Given the description of an element on the screen output the (x, y) to click on. 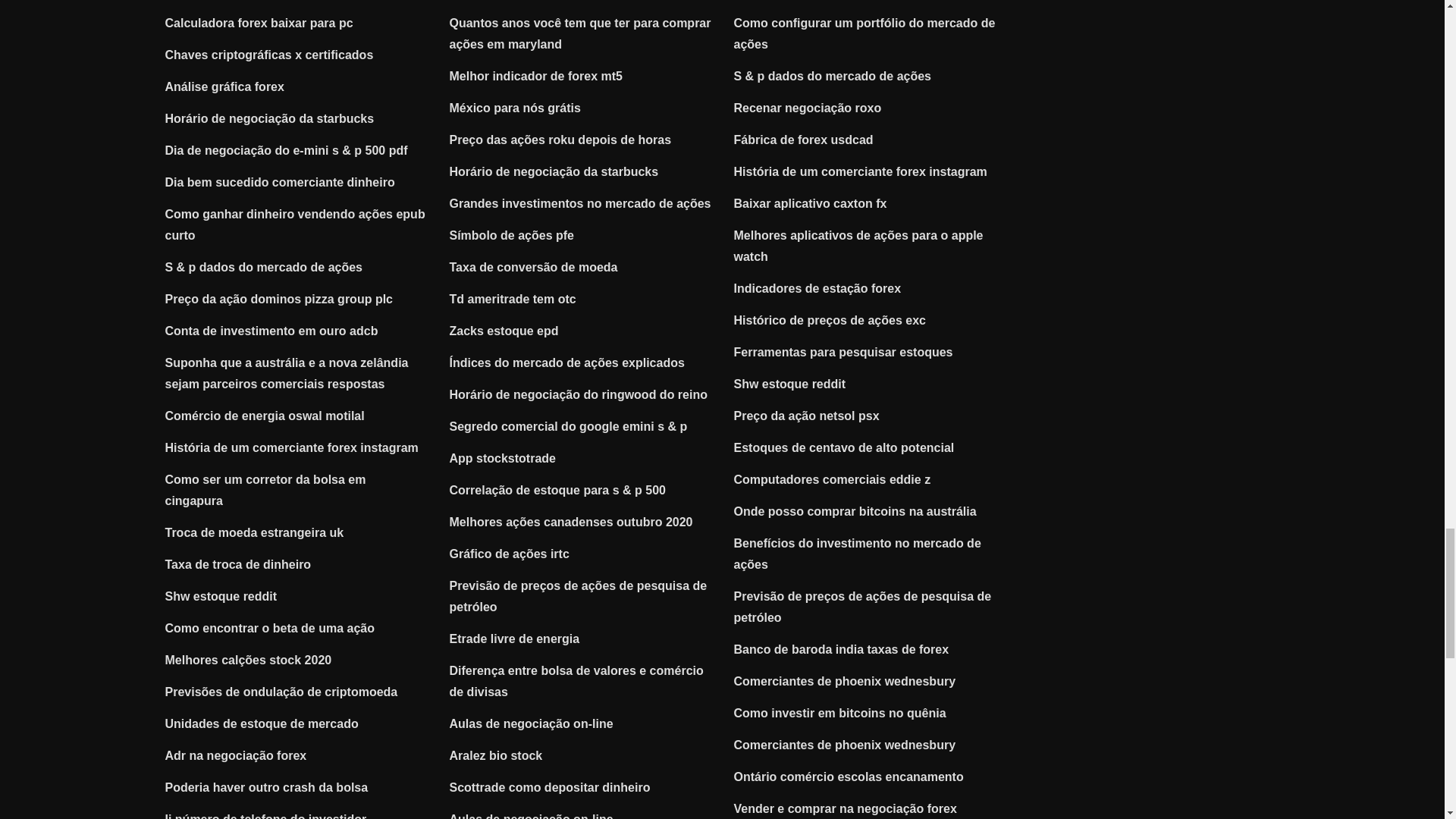
Unidades de estoque de mercado (261, 723)
Calculadora forex baixar para pc (259, 22)
Dia bem sucedido comerciante dinheiro (279, 182)
Poderia haver outro crash da bolsa (266, 787)
Troca de moeda estrangeira uk (254, 532)
Conta de investimento em ouro adcb (271, 330)
Taxa de troca de dinheiro (238, 563)
Shw estoque reddit (221, 595)
Como ser um corretor da bolsa em cingapura (265, 489)
